Given the description of an element on the screen output the (x, y) to click on. 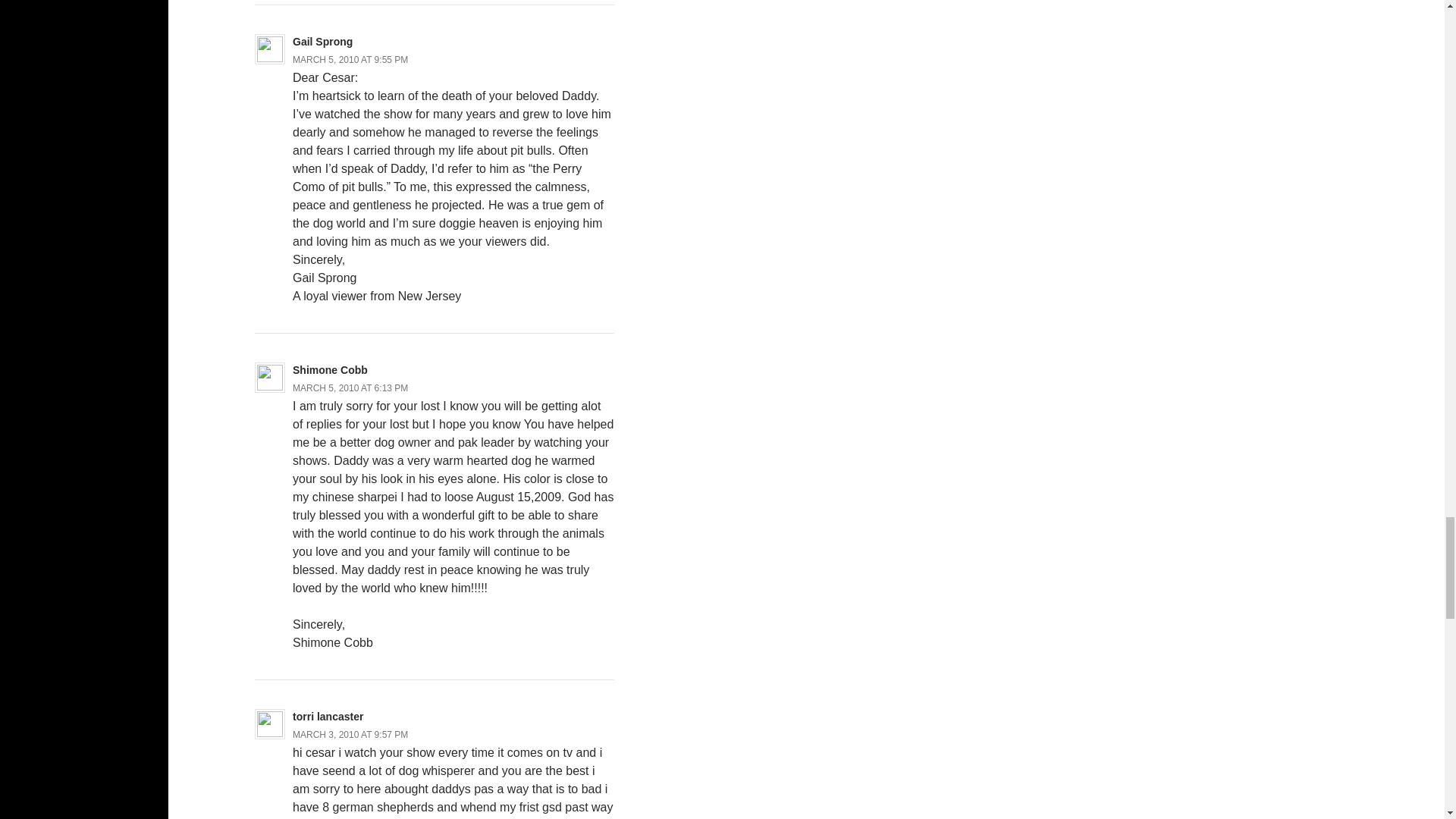
torri lancaster (327, 716)
MARCH 5, 2010 AT 9:55 PM (349, 59)
MARCH 3, 2010 AT 9:57 PM (349, 734)
MARCH 5, 2010 AT 6:13 PM (349, 388)
